Given the description of an element on the screen output the (x, y) to click on. 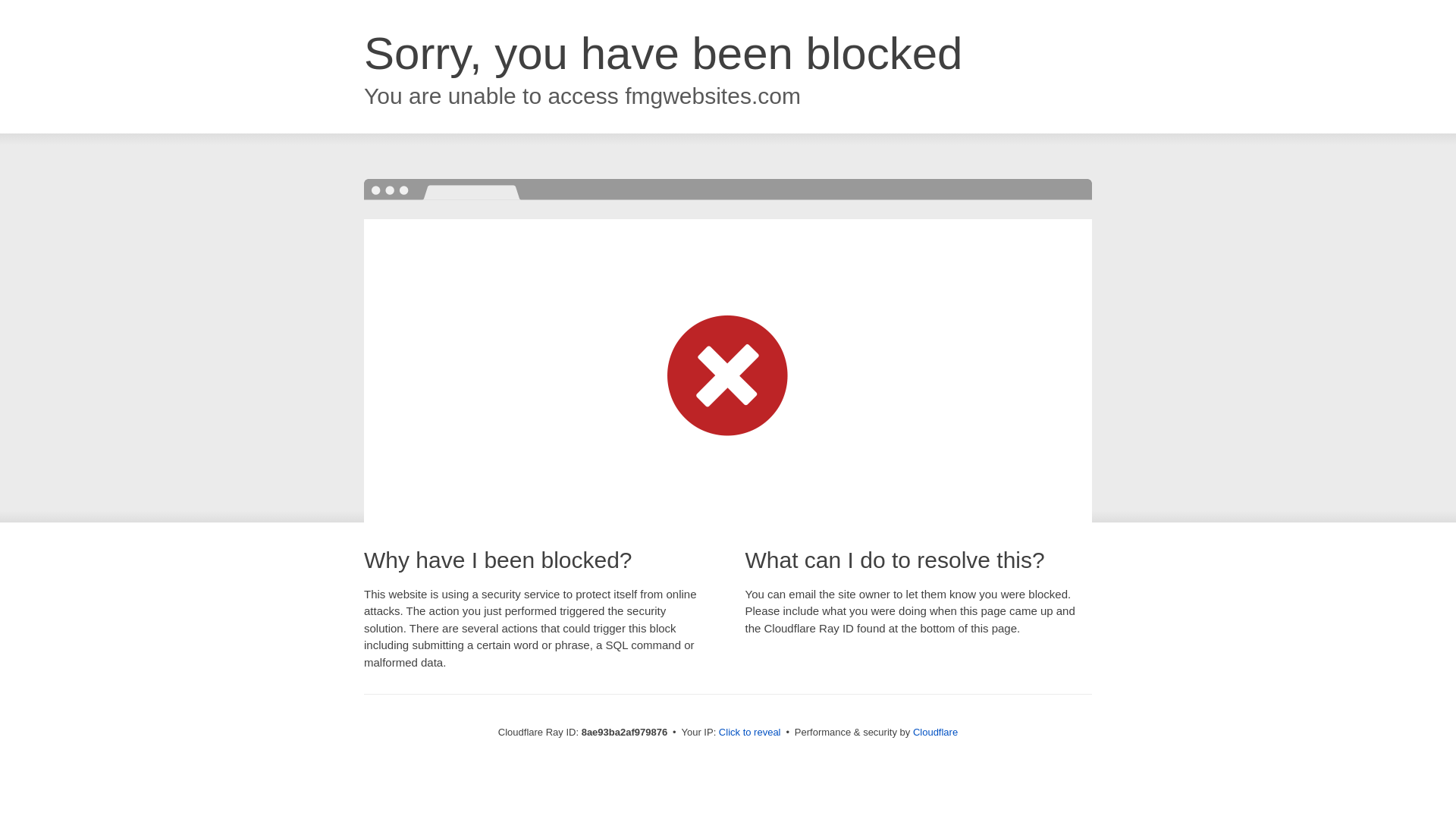
Cloudflare (935, 731)
Click to reveal (749, 732)
